Given the description of an element on the screen output the (x, y) to click on. 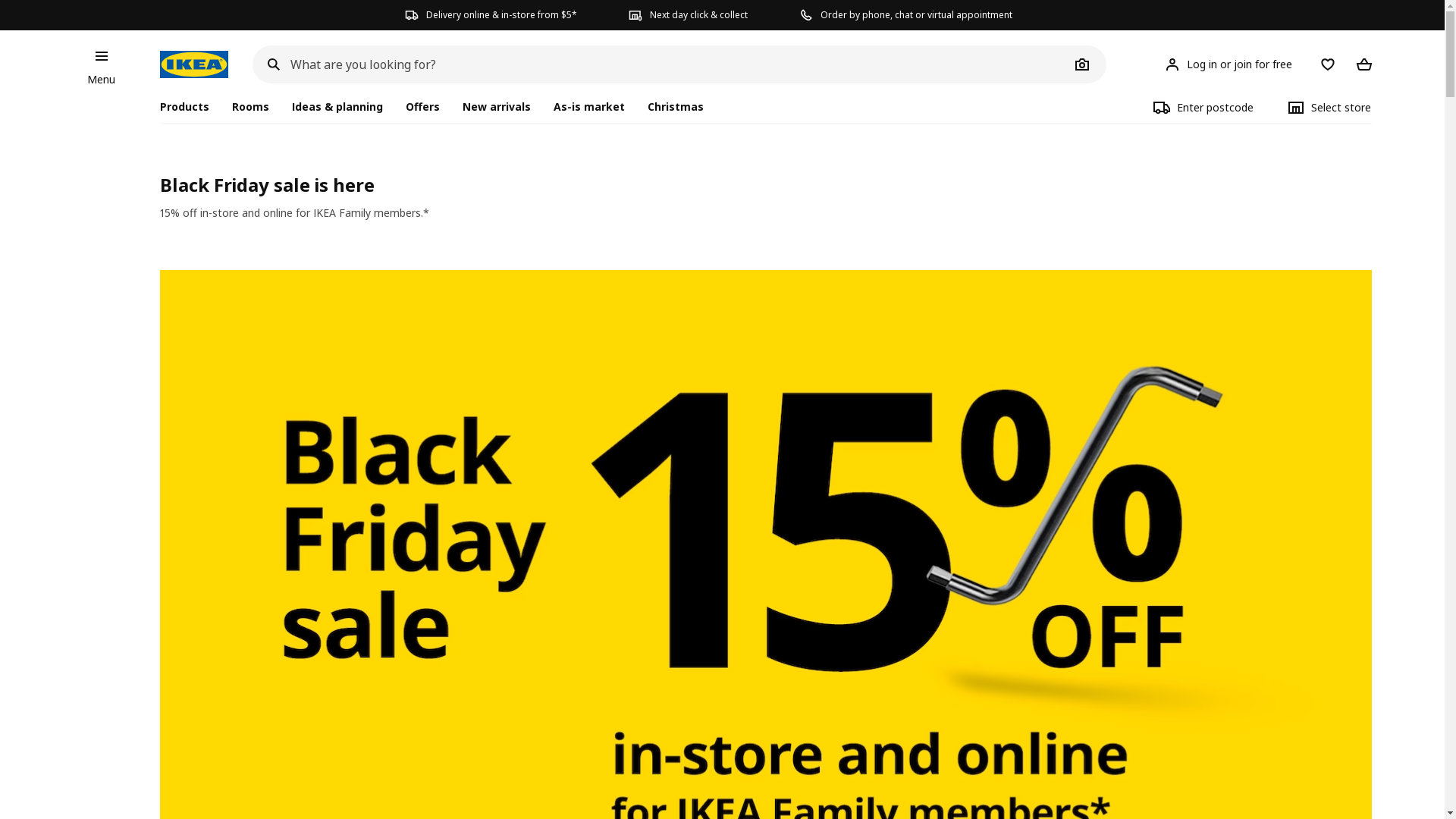
Next day click & collect Element type: text (687, 14)
Menu Element type: text (101, 79)
Log in or join for free Element type: text (1229, 64)
Enter postcode Element type: text (1202, 106)
As-is market Element type: text (589, 106)
Shopping list Element type: text (1326, 64)
End of search dropdown. Element type: text (251, 82)
Delivery online & in-store from $5* Element type: text (490, 14)
Offers Element type: text (422, 106)
Skip to main content Element type: text (169, 48)
New arrivals Element type: text (496, 106)
Christmas Element type: text (675, 106)
Ideas & planning Element type: text (337, 106)
Products Element type: text (190, 106)
Rooms Element type: text (250, 106)
Shopping bag Element type: text (1363, 64)
Select store Element type: text (1328, 106)
Order by phone, chat or virtual appointment Element type: text (905, 14)
